Given the description of an element on the screen output the (x, y) to click on. 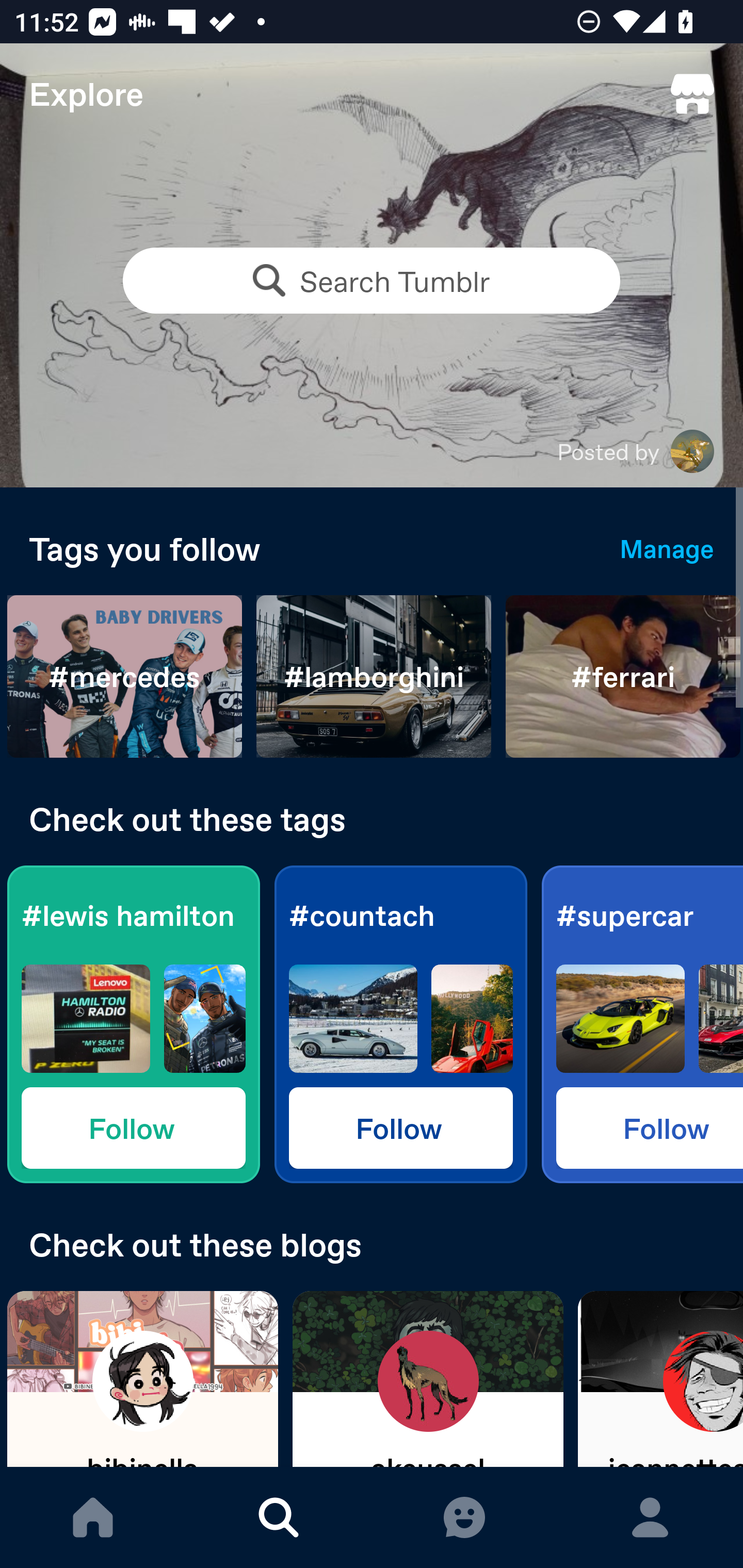
TumblrMart (692, 94)
Search Tumblr (371, 280)
Tags you follow (309, 547)
Manage (666, 547)
#mercedes (124, 676)
#lamborghini (373, 676)
#ferrari (622, 676)
Check out these tags (371, 819)
#lewis hamilton Follow (133, 1024)
#countach Follow (400, 1024)
#supercar Follow (642, 1024)
Follow (133, 1127)
Follow (400, 1127)
Follow (649, 1127)
Check out these blogs (371, 1244)
bibinella (142, 1378)
akeussel (427, 1378)
jeannettearroyo (660, 1378)
DASHBOARD (92, 1517)
EXPLORE (278, 1517)
MESSAGES (464, 1517)
ACCOUNT (650, 1517)
